Given the description of an element on the screen output the (x, y) to click on. 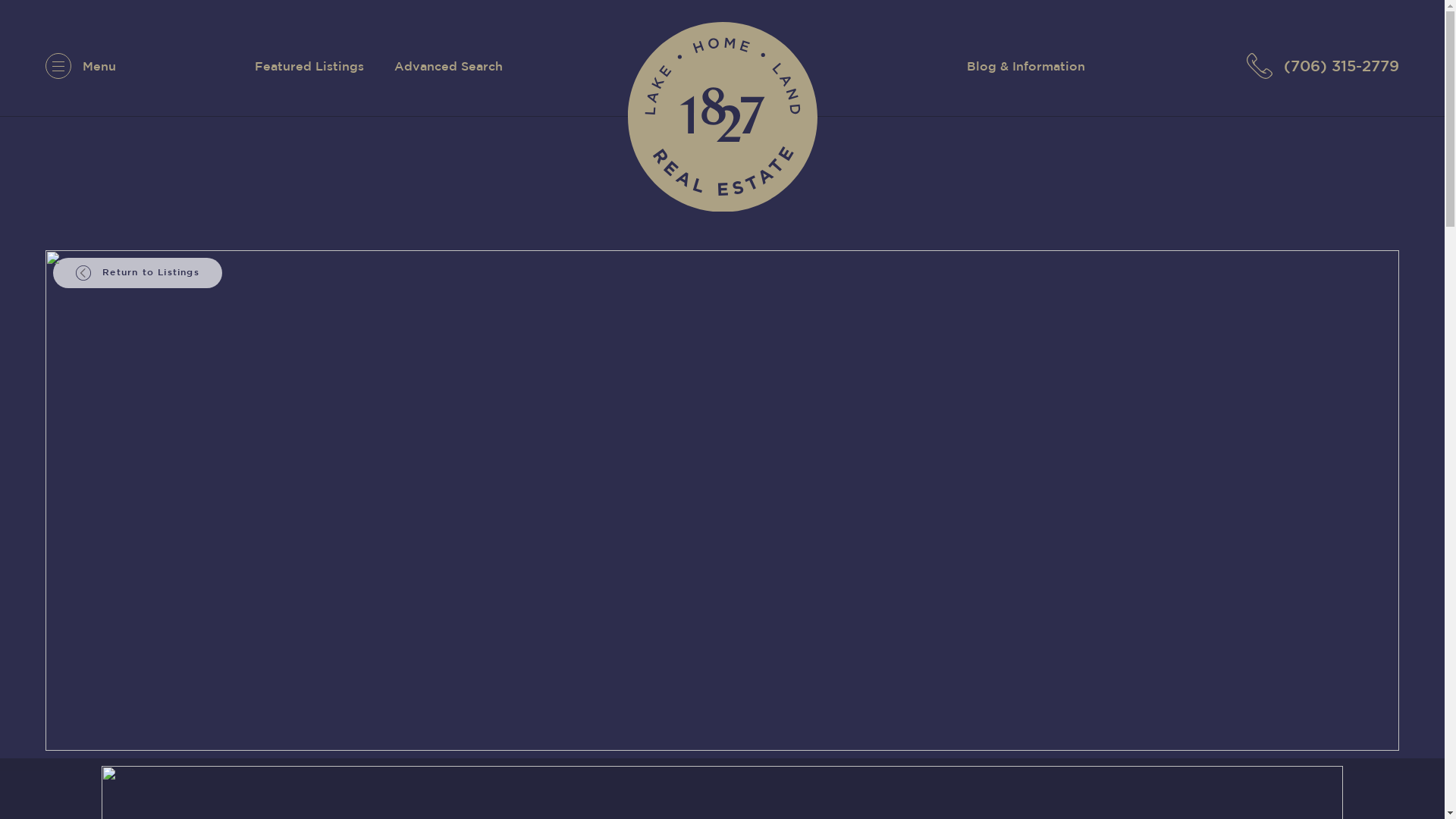
Featured Listings Element type: text (309, 66)
Return to Listings Element type: text (137, 272)
(706) 315-2779 Element type: text (1322, 65)
Blog & Information Element type: text (1025, 66)
Advanced Search Element type: text (448, 66)
